Given the description of an element on the screen output the (x, y) to click on. 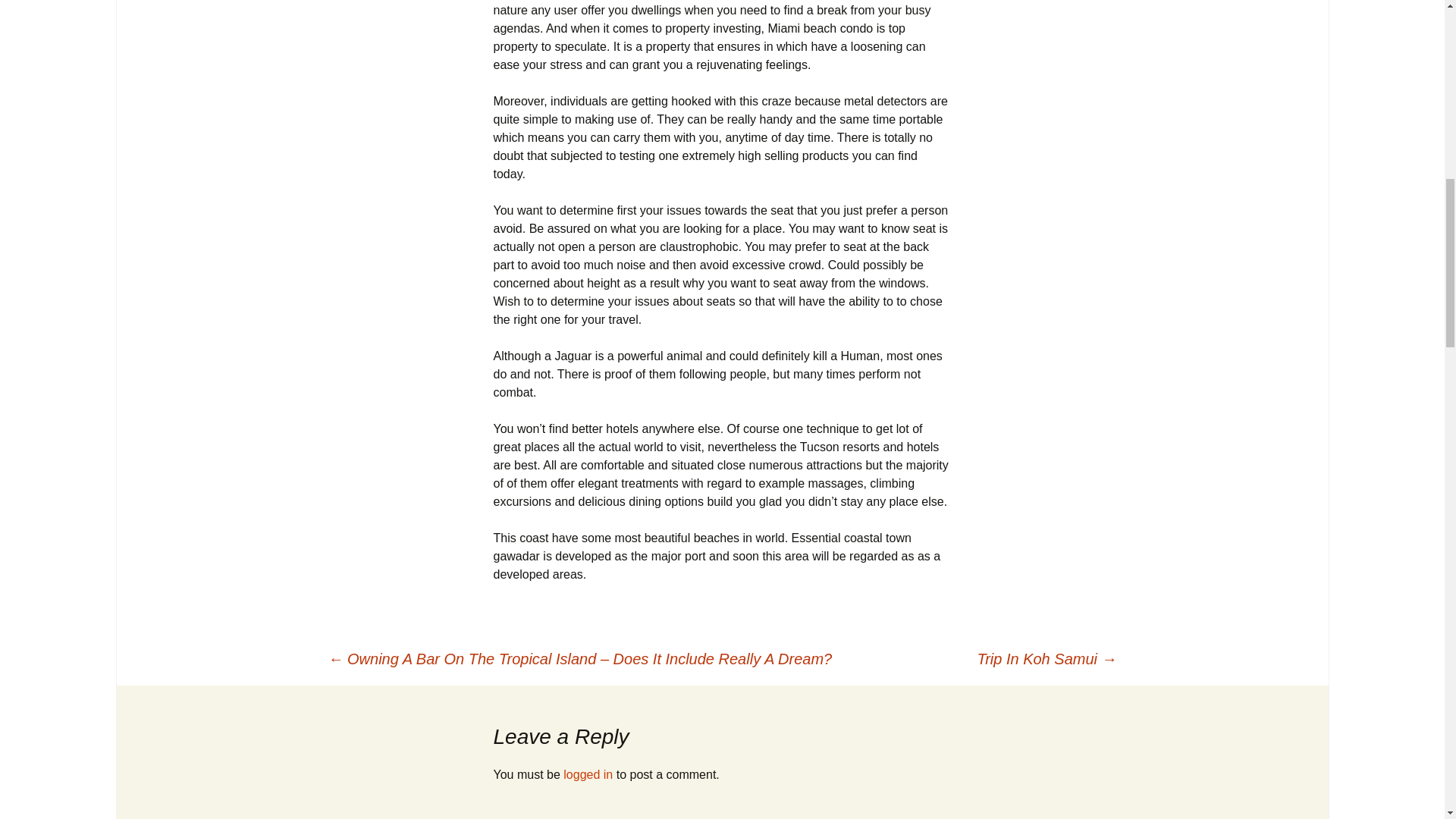
logged in (587, 774)
